Given the description of an element on the screen output the (x, y) to click on. 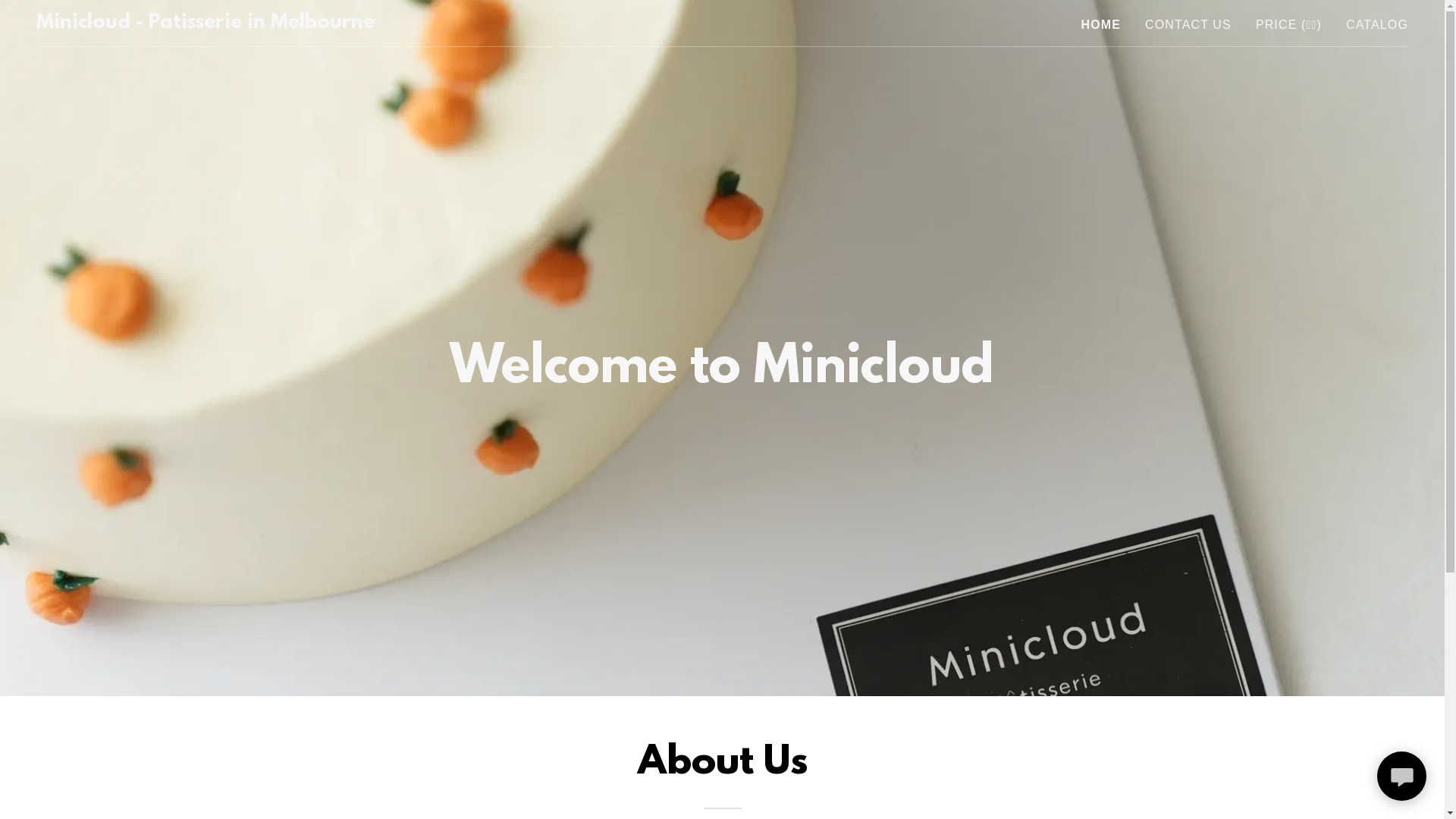
CATALOG Element type: text (1376, 24)
HOME Element type: text (1100, 24)
Minicloud - Patisserie in Melbourne Element type: text (205, 23)
CONTACT US Element type: text (1188, 24)
